Given the description of an element on the screen output the (x, y) to click on. 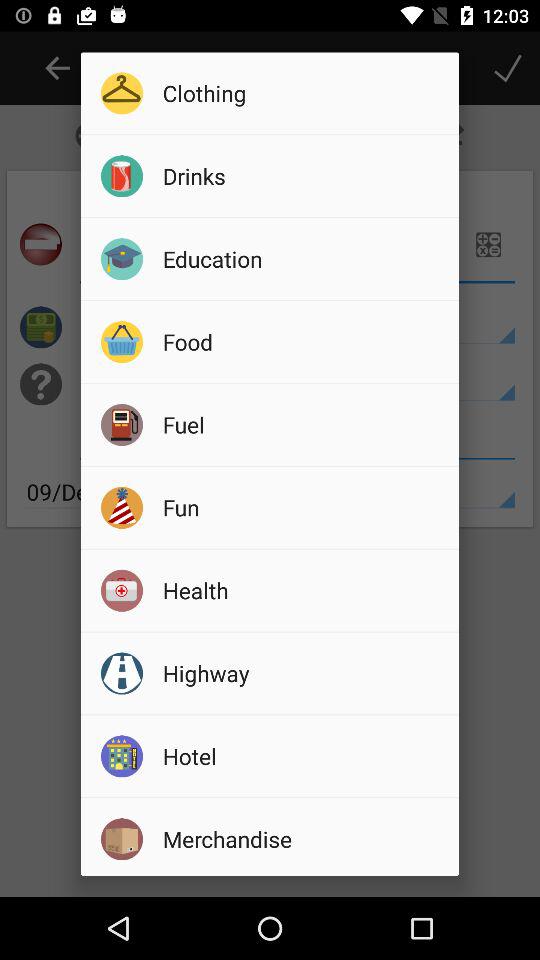
open the item below the hotel (303, 838)
